Given the description of an element on the screen output the (x, y) to click on. 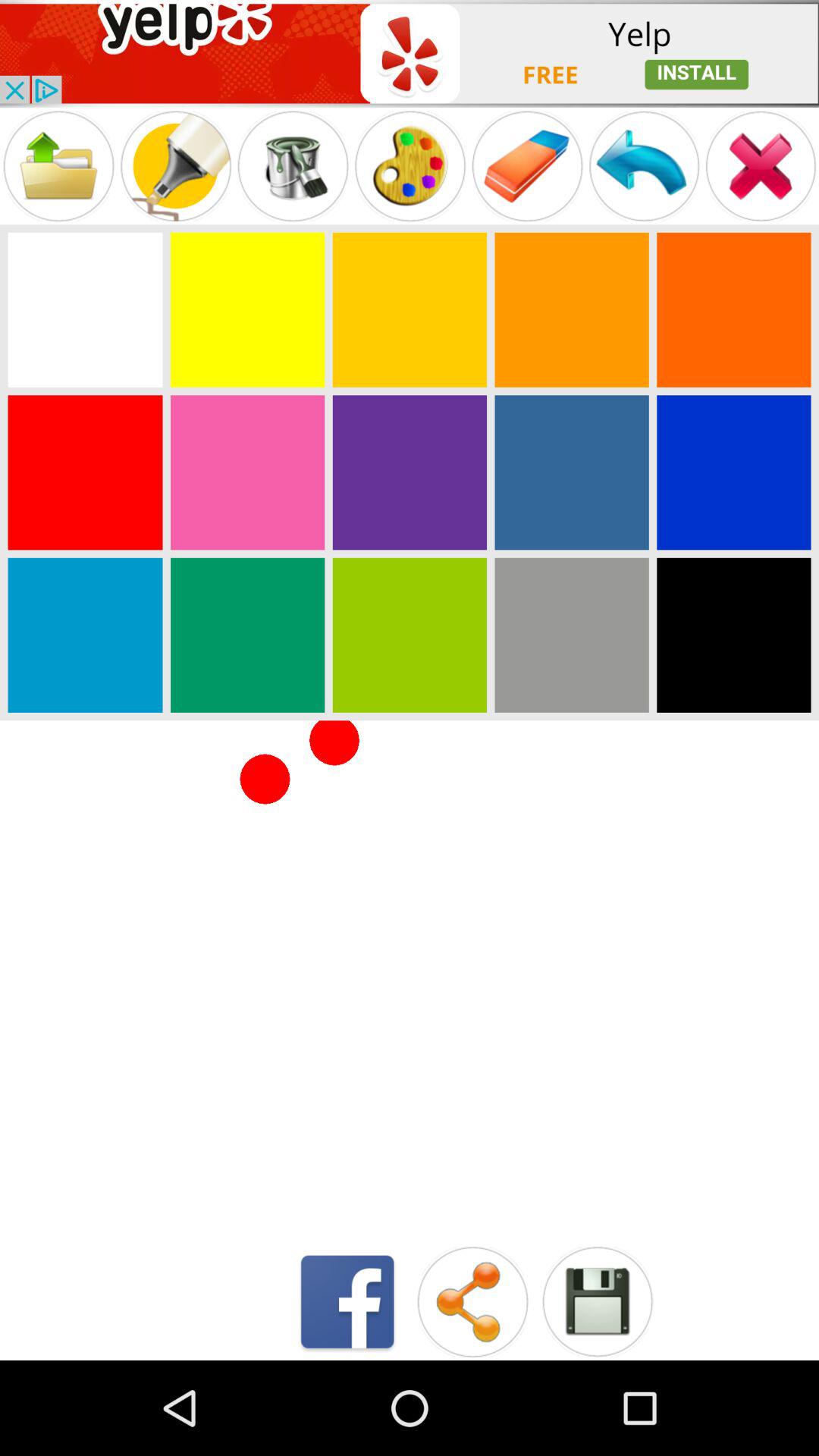
select color (84, 634)
